Given the description of an element on the screen output the (x, y) to click on. 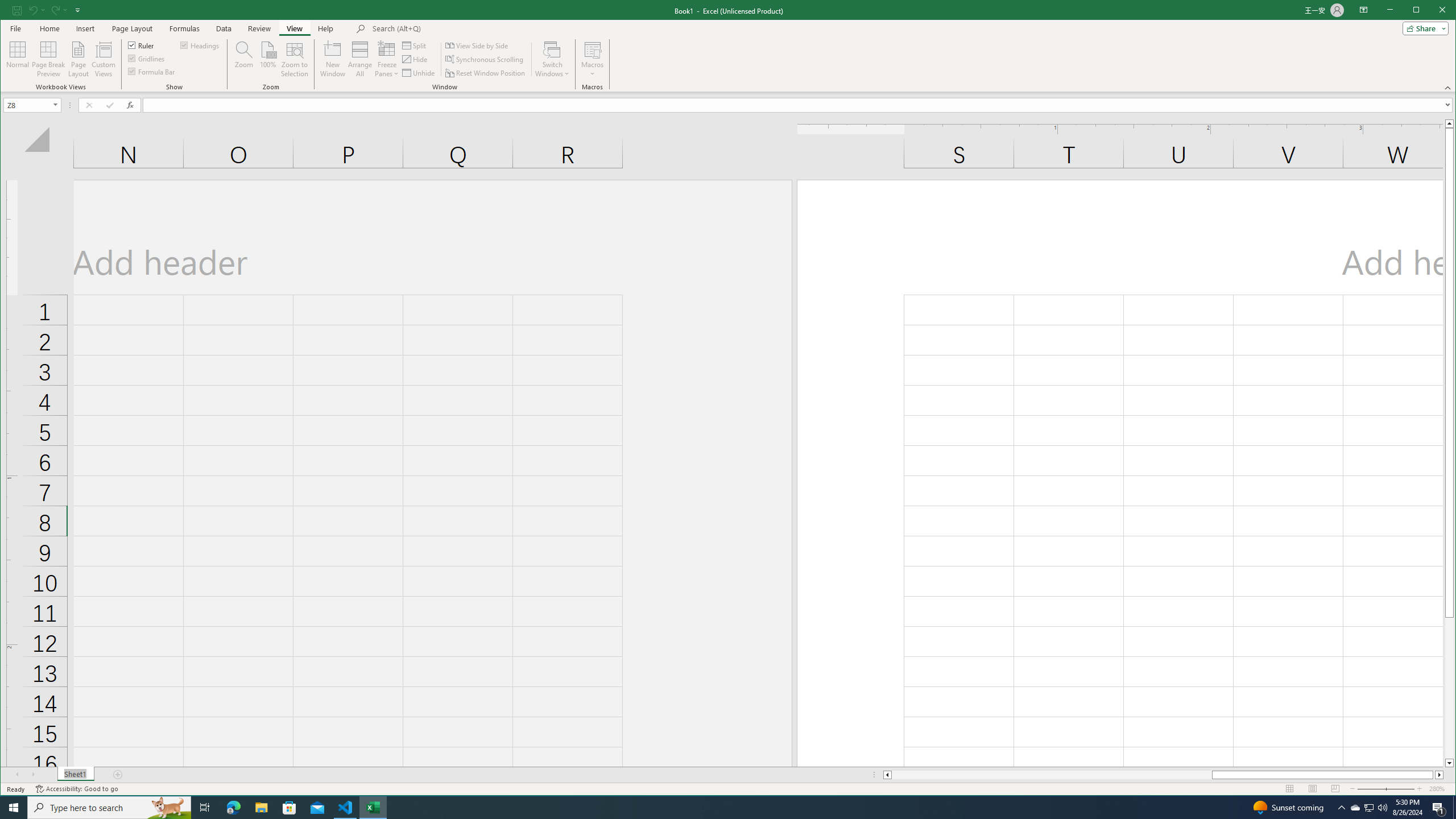
Line up (1449, 122)
Home (49, 28)
User Promoted Notification Area (1368, 807)
Collapse the Ribbon (1448, 87)
Zoom to Selection (294, 59)
Column right (1439, 774)
Column left (886, 774)
View Macros (592, 48)
Scroll Right (34, 774)
Gridlines (147, 57)
Excel - 1 running window (373, 807)
Action Center, 1 new notification (1439, 807)
Q2790: 100% (1382, 807)
